Given the description of an element on the screen output the (x, y) to click on. 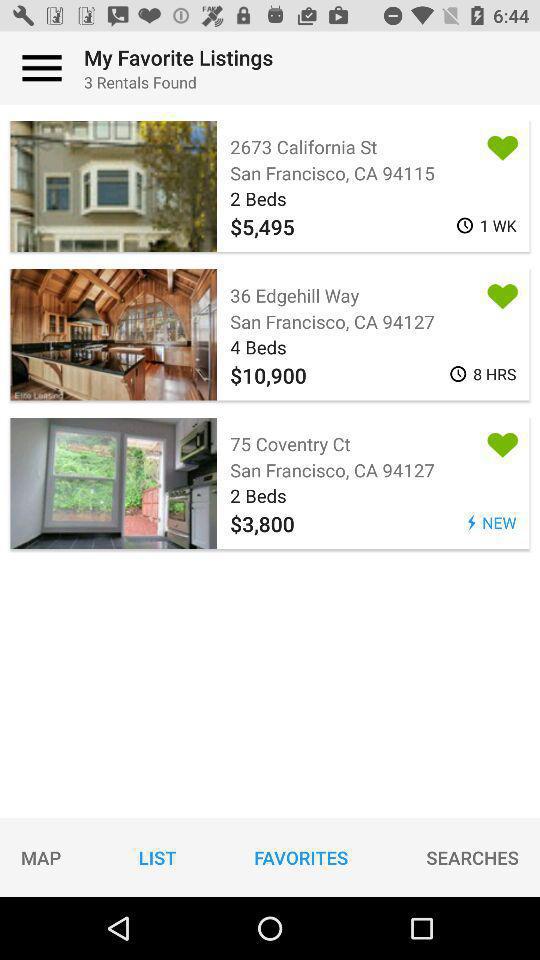
turn on item to the left of favorites icon (157, 857)
